Given the description of an element on the screen output the (x, y) to click on. 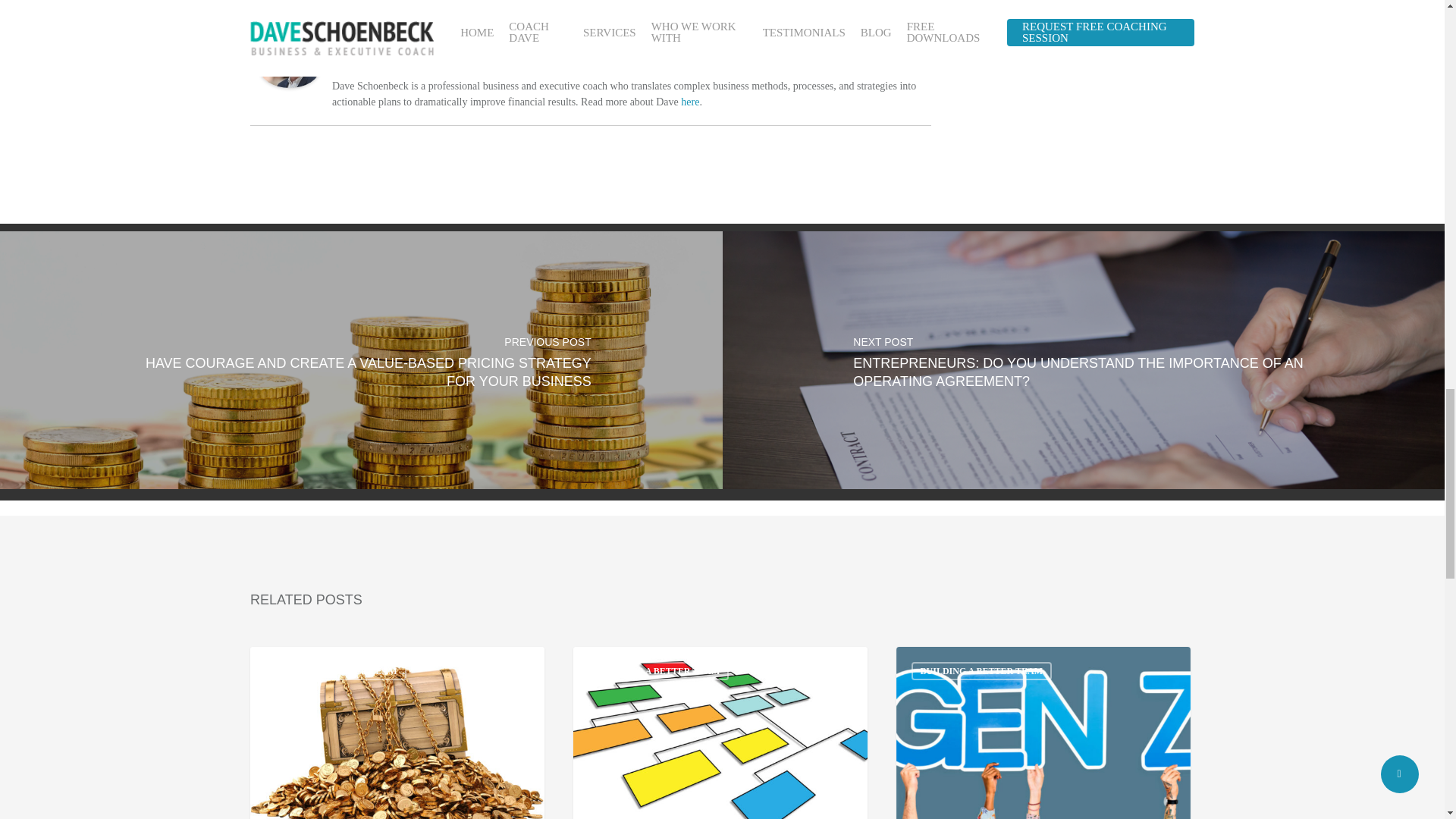
Dave Schoenbeck (289, 94)
Recent Posts (334, 14)
Dave Schoenbeck (382, 48)
Facebook (892, 67)
Author (272, 14)
here (689, 101)
Twitter (911, 67)
